Given the description of an element on the screen output the (x, y) to click on. 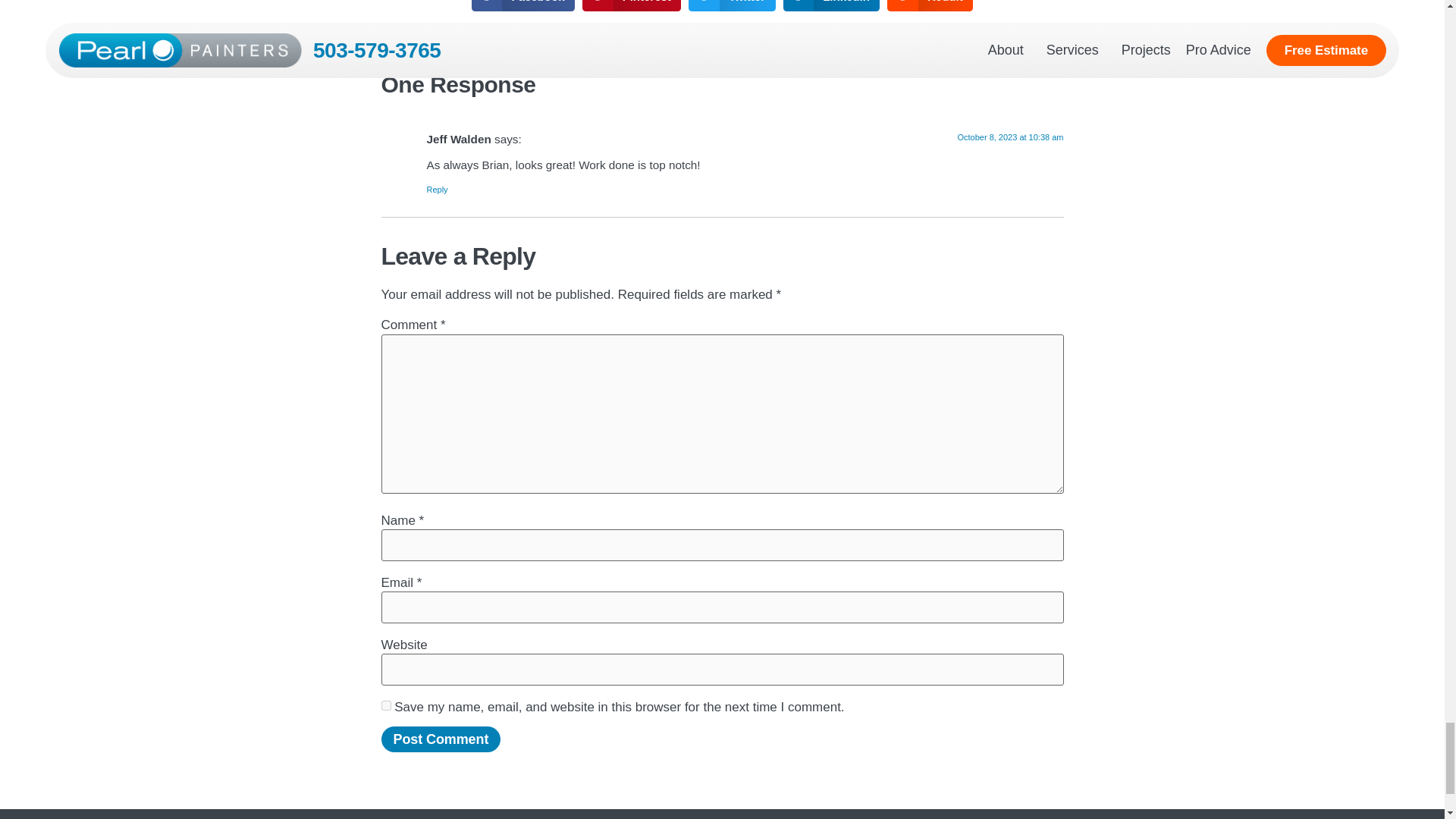
yes (385, 705)
Post Comment (440, 739)
